Given the description of an element on the screen output the (x, y) to click on. 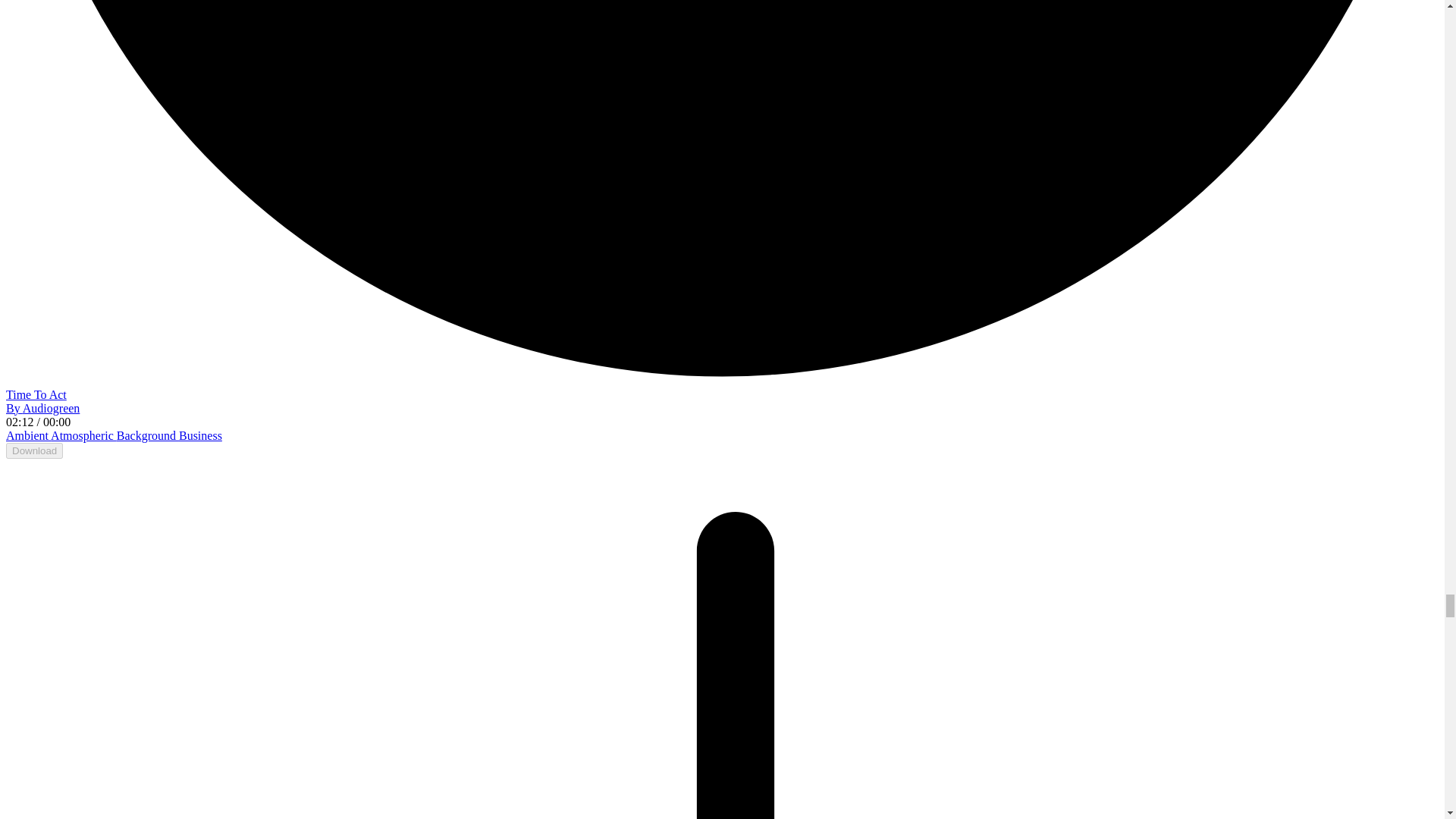
Download (33, 450)
